Given the description of an element on the screen output the (x, y) to click on. 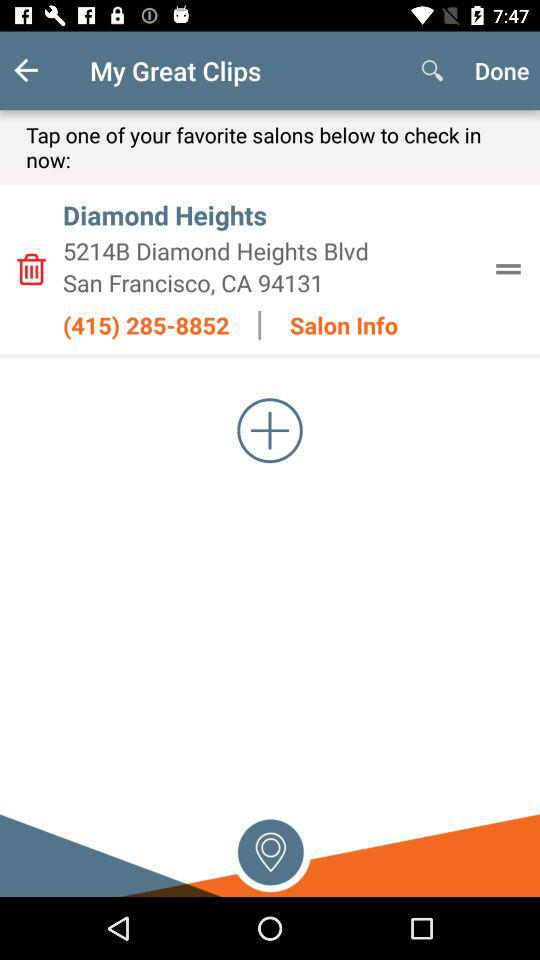
flip until the done (502, 70)
